Given the description of an element on the screen output the (x, y) to click on. 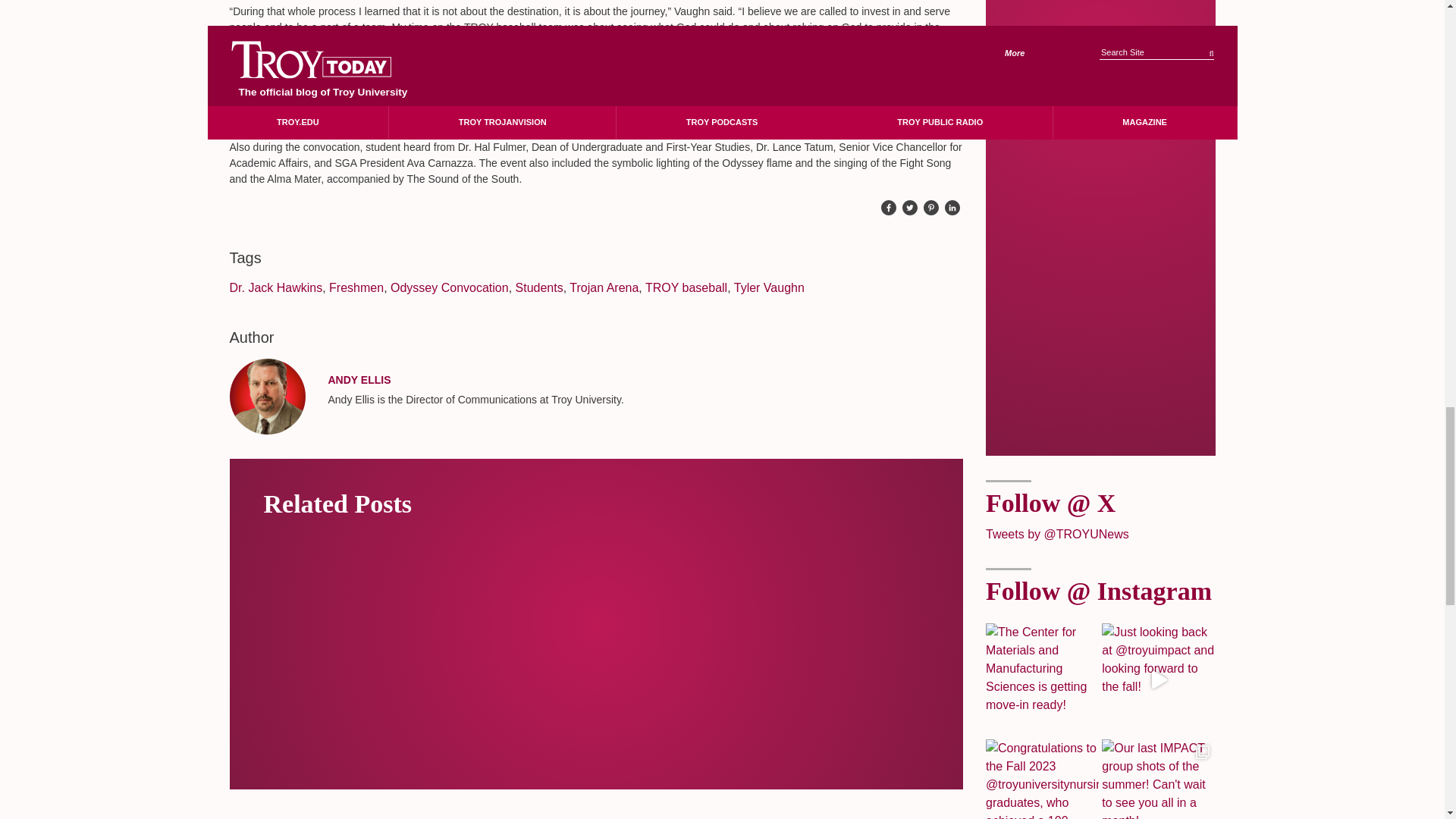
ANDY ELLIS (358, 379)
Students (539, 287)
Trojan Arena (604, 287)
Odyssey Convocation (449, 287)
Freshmen (356, 287)
Tyler Vaughn (769, 287)
TROY baseball (685, 287)
Dr. Jack Hawkins (274, 287)
